Given the description of an element on the screen output the (x, y) to click on. 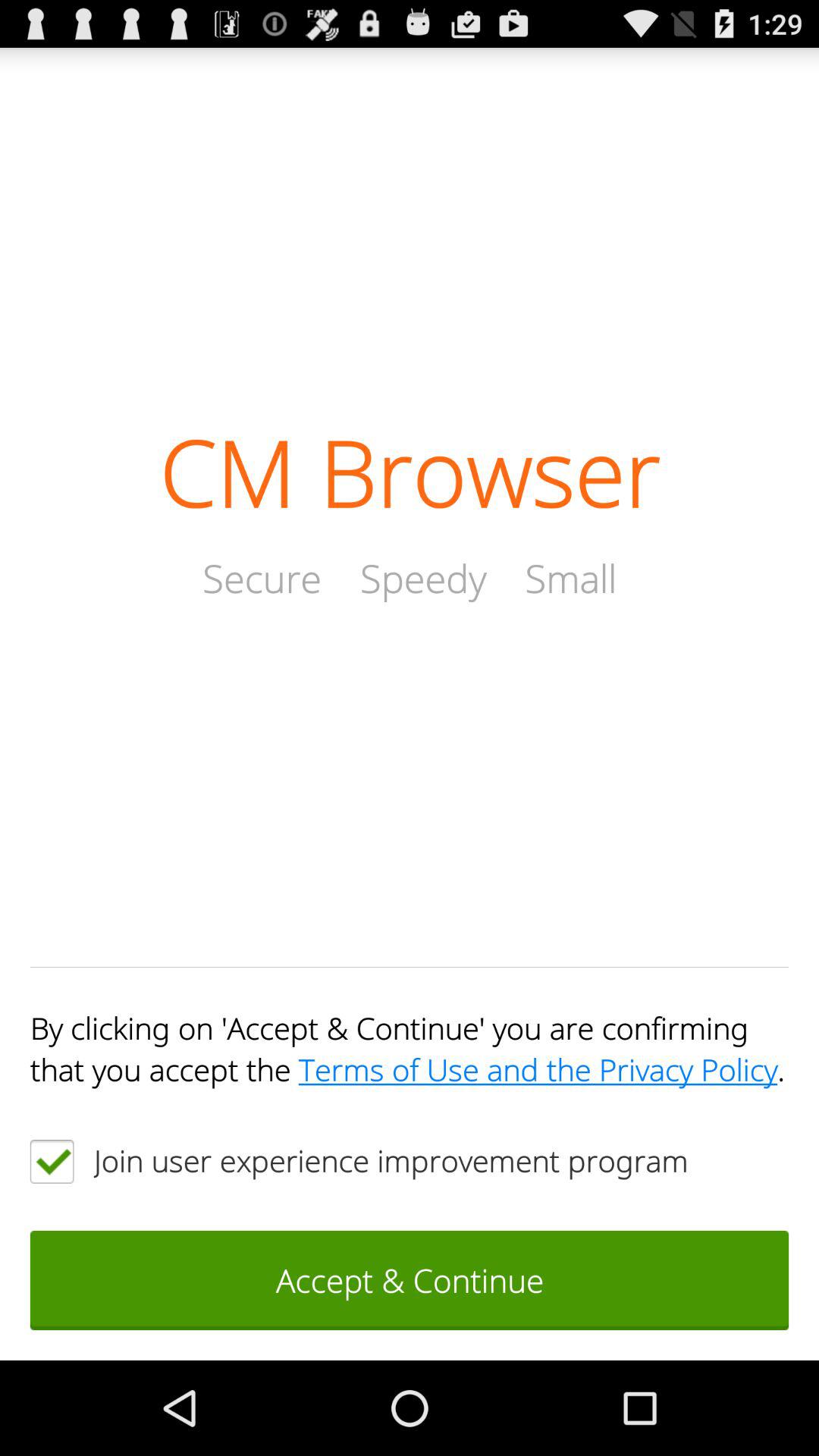
open by clicking on item (409, 1048)
